Given the description of an element on the screen output the (x, y) to click on. 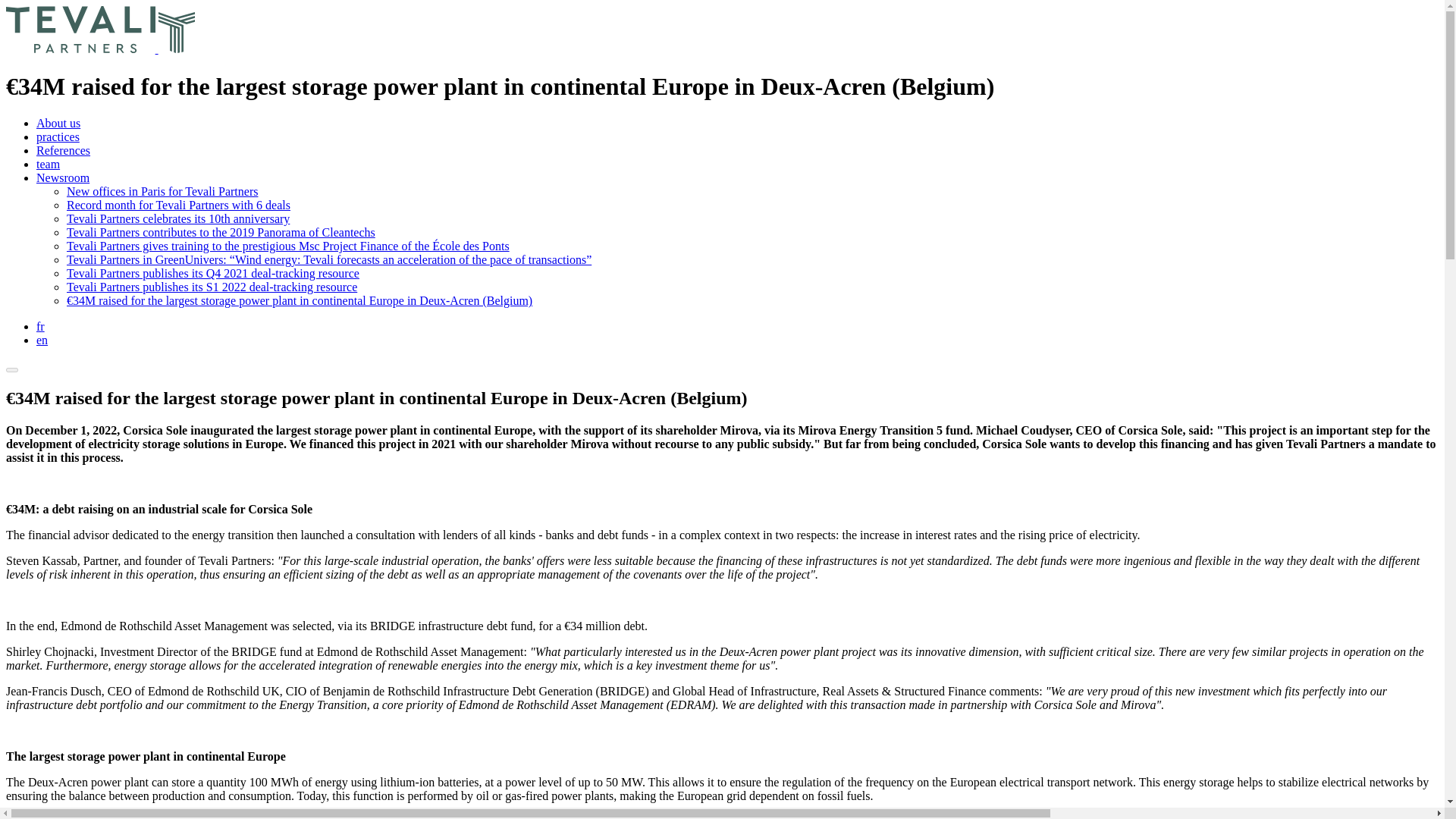
Tevali Partners (176, 48)
Tevali Partners (81, 48)
About us (58, 123)
References (63, 150)
Record month for Tevali Partners with 6 deals (177, 205)
Tevali Partners celebrates its 10th anniversary (177, 218)
team (47, 164)
practices (58, 136)
